Given the description of an element on the screen output the (x, y) to click on. 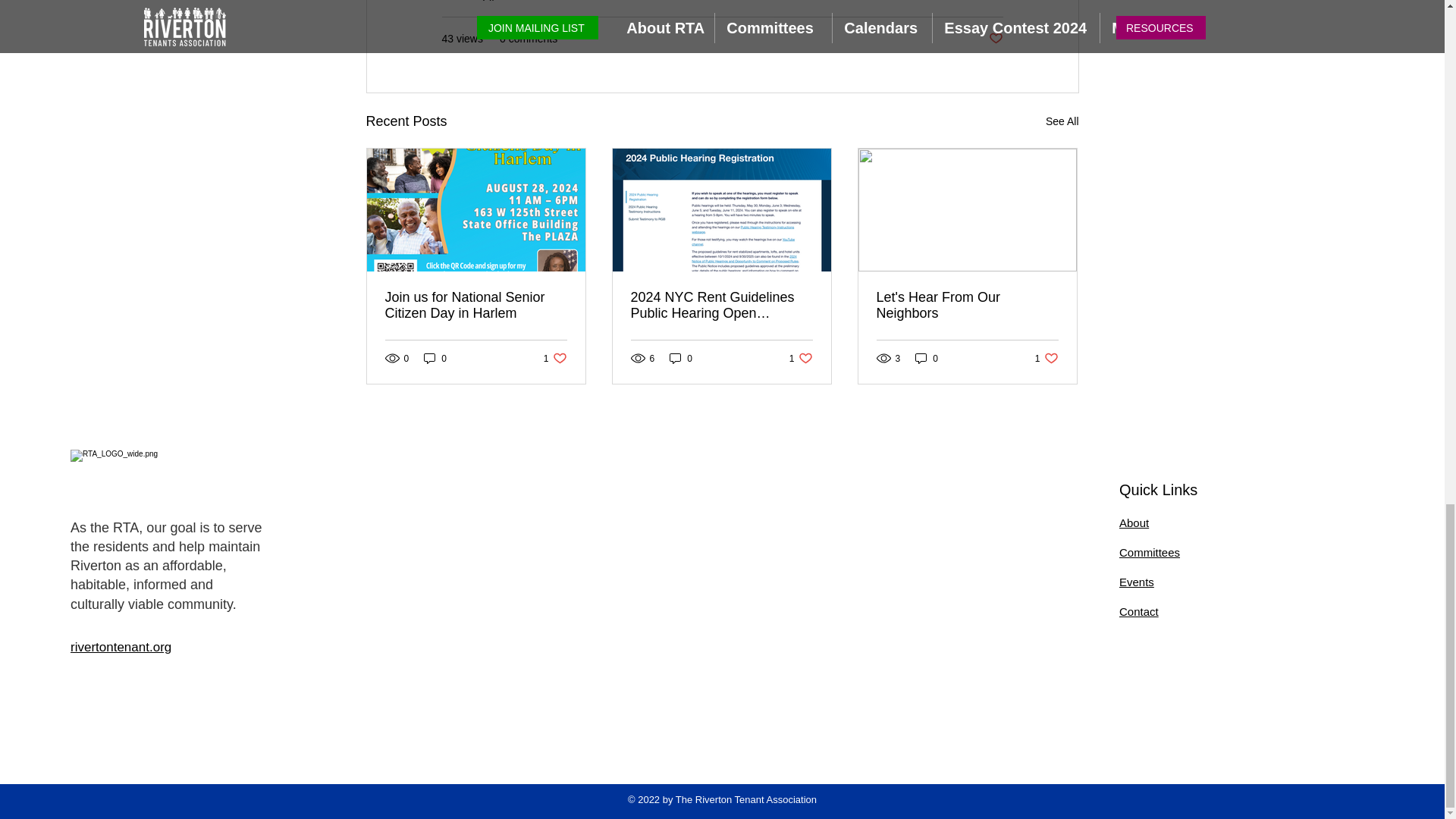
Let's Hear From Our Neighbors (967, 305)
Contact (1046, 358)
2024 NYC Rent Guidelines Public Hearing Open Registration (1138, 611)
Committees (721, 305)
See All (1149, 552)
0 (1061, 121)
0 (681, 358)
About (435, 358)
